Given the description of an element on the screen output the (x, y) to click on. 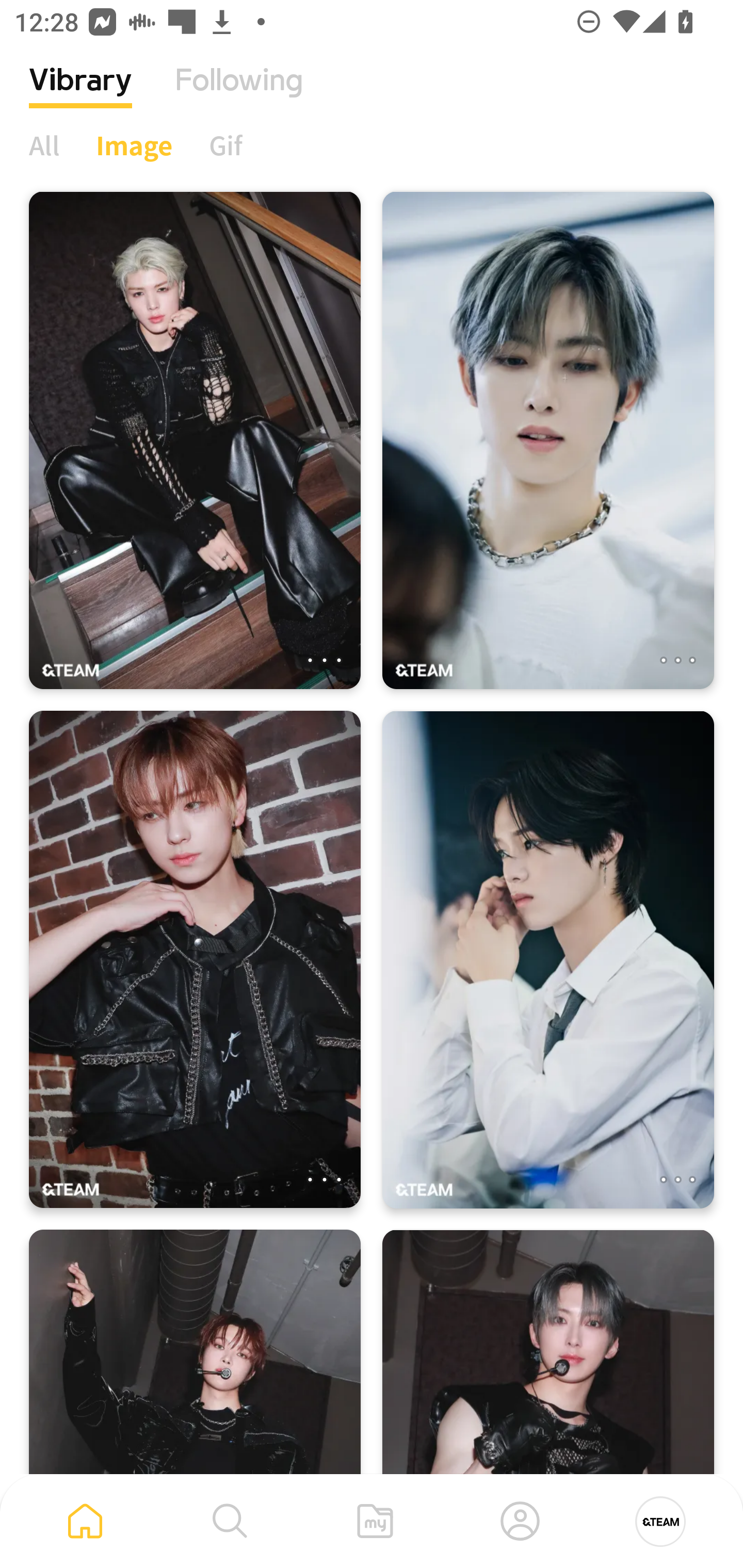
Vibrary (80, 95)
Following (239, 95)
All (44, 145)
Image (134, 145)
Gif (225, 145)
